Given the description of an element on the screen output the (x, y) to click on. 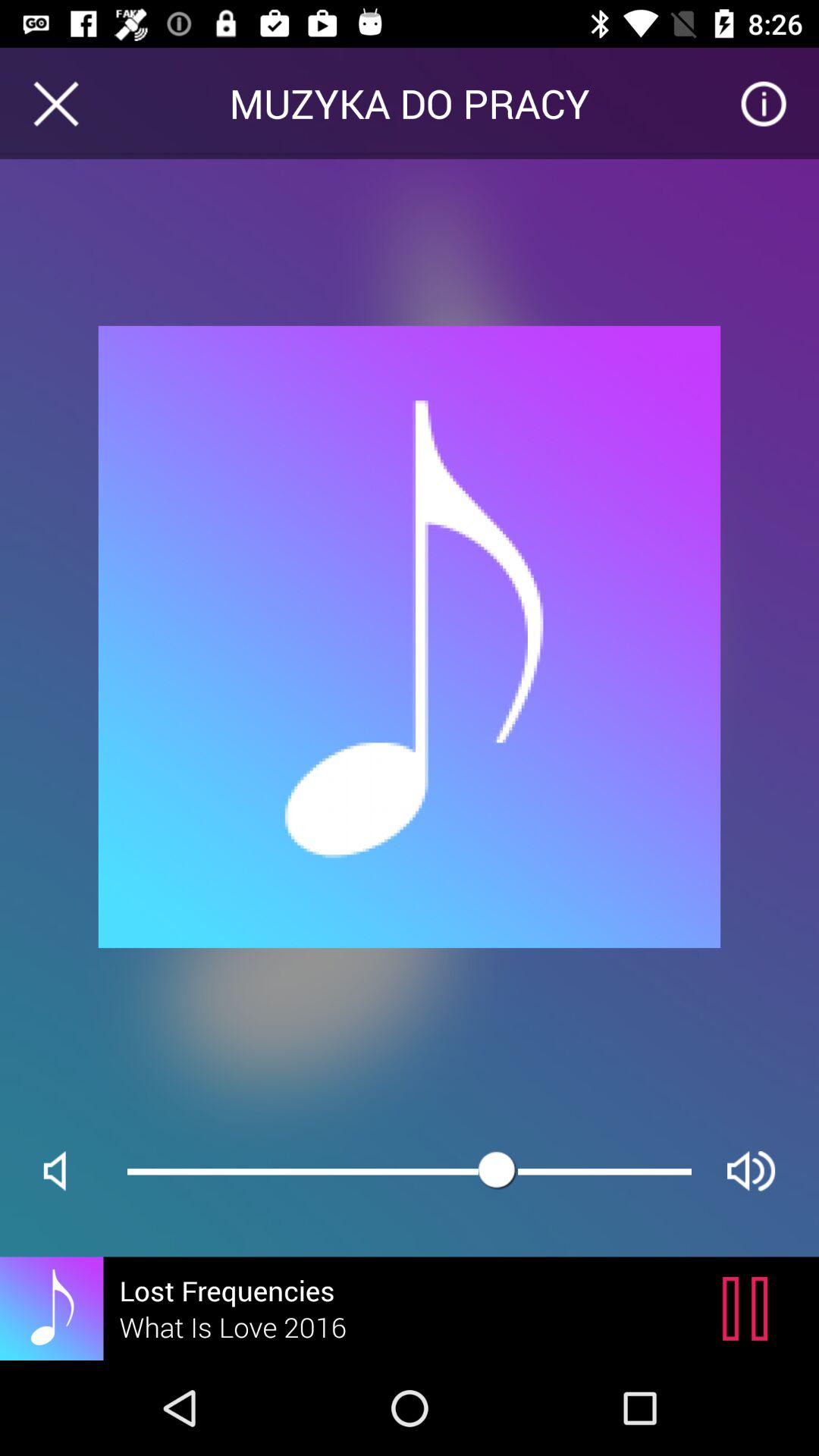
turn off the item next to the lost frequencies icon (749, 1308)
